Given the description of an element on the screen output the (x, y) to click on. 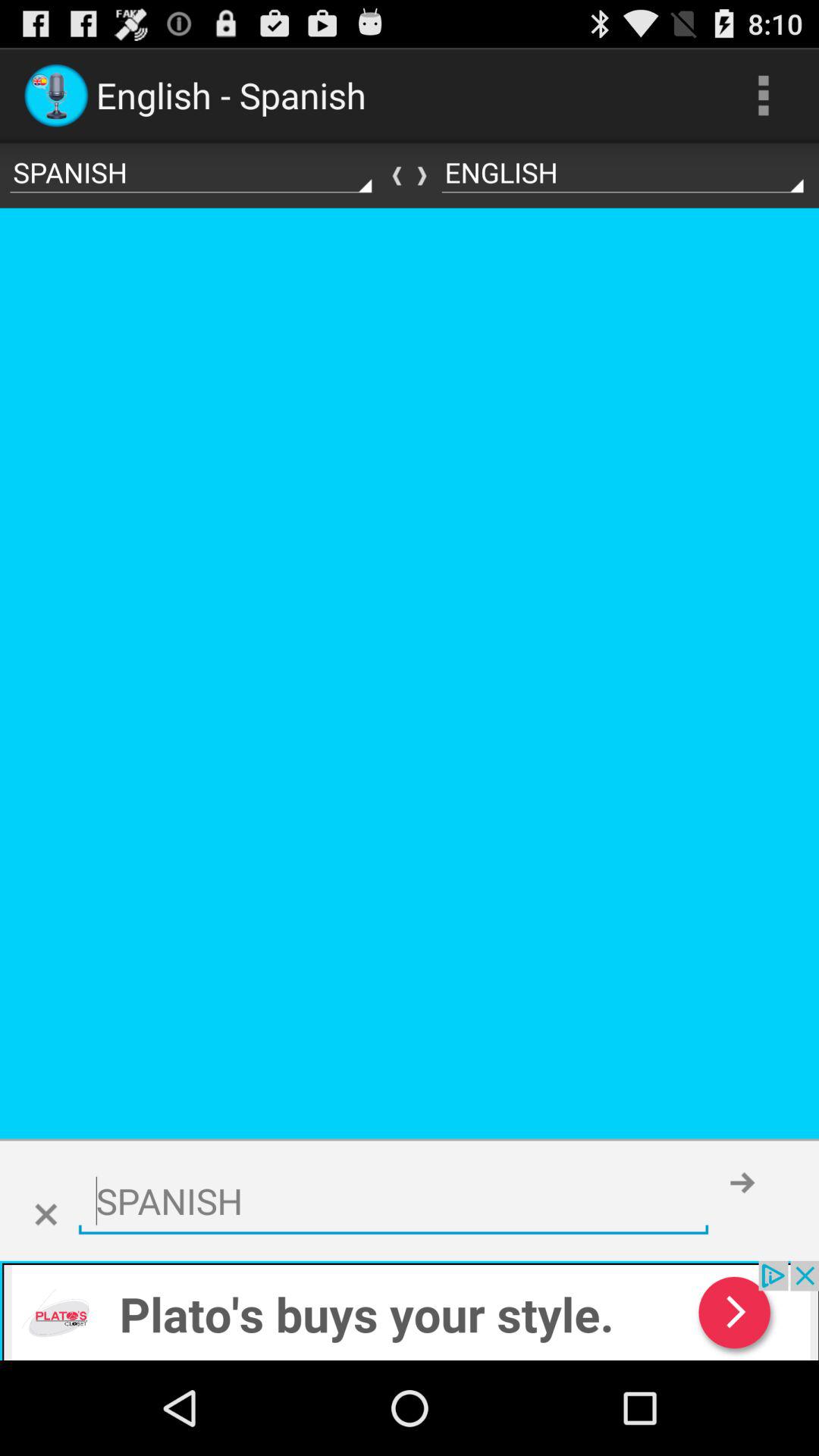
close (45, 1214)
